Given the description of an element on the screen output the (x, y) to click on. 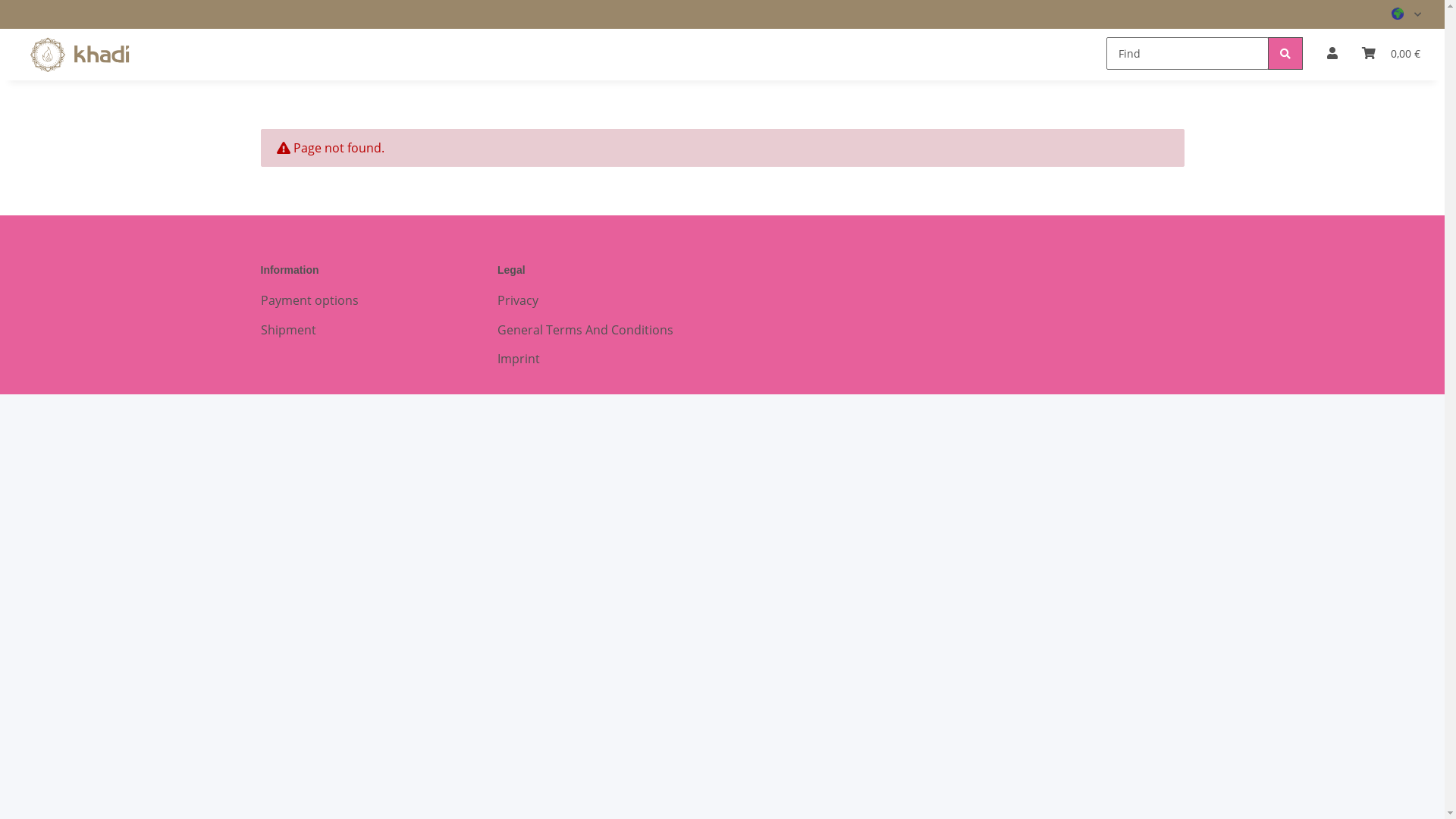
Privacy Element type: text (603, 299)
General Terms And Conditions Element type: text (603, 328)
Khadi B2B Element type: hover (79, 54)
Payment options Element type: text (366, 299)
Please select a language. Element type: hover (1406, 14)
Shipment Element type: text (366, 328)
Imprint Element type: text (603, 358)
